Given the description of an element on the screen output the (x, y) to click on. 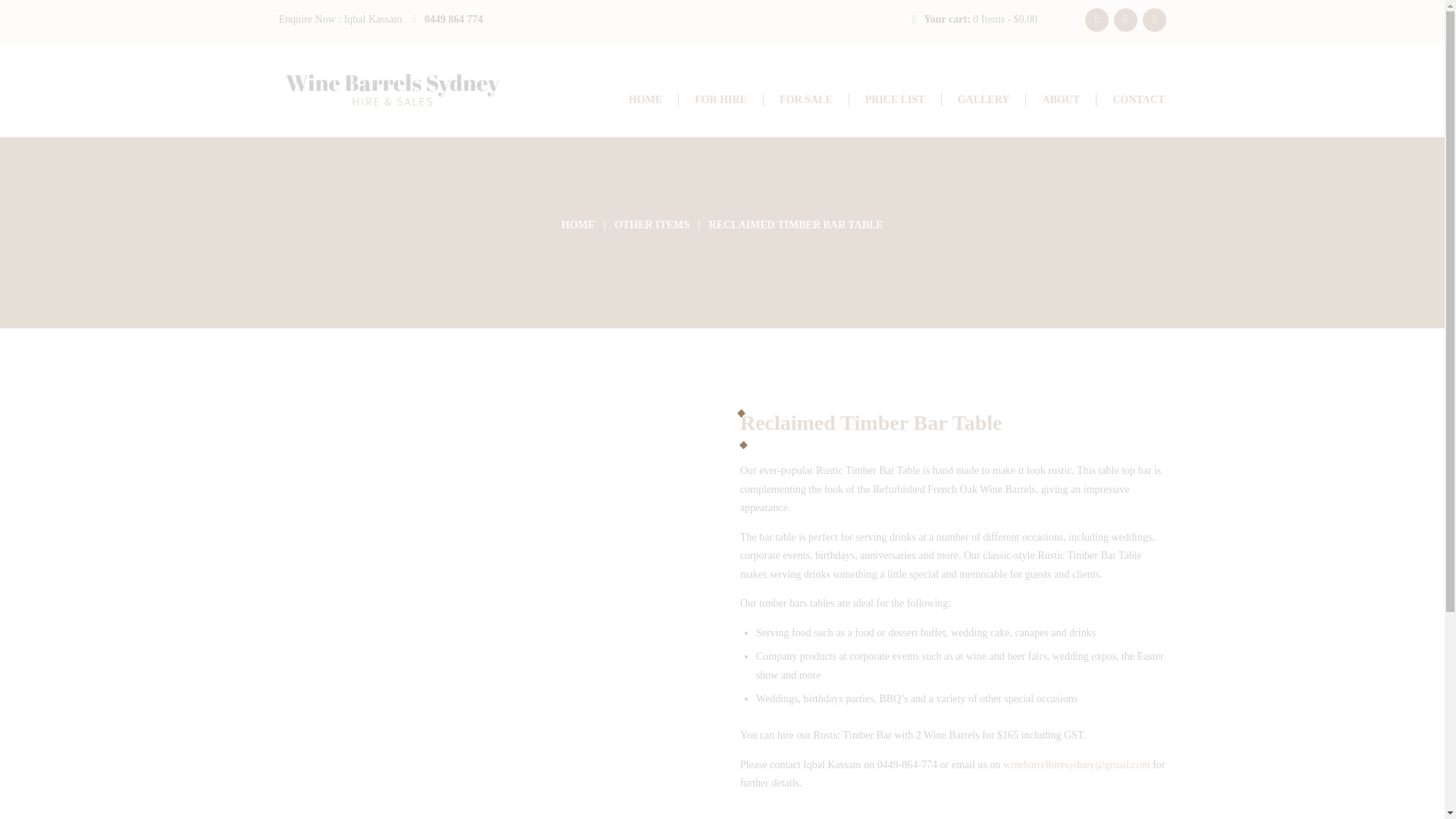
PRICE LIST (894, 99)
OTHER ITEMS (651, 224)
FOR HIRE (721, 99)
GALLERY (983, 99)
HOME (645, 99)
0449 864 774 (454, 19)
FOR SALE (805, 99)
CONTACT (1139, 99)
ABOUT (1061, 99)
HOME (577, 224)
